Given the description of an element on the screen output the (x, y) to click on. 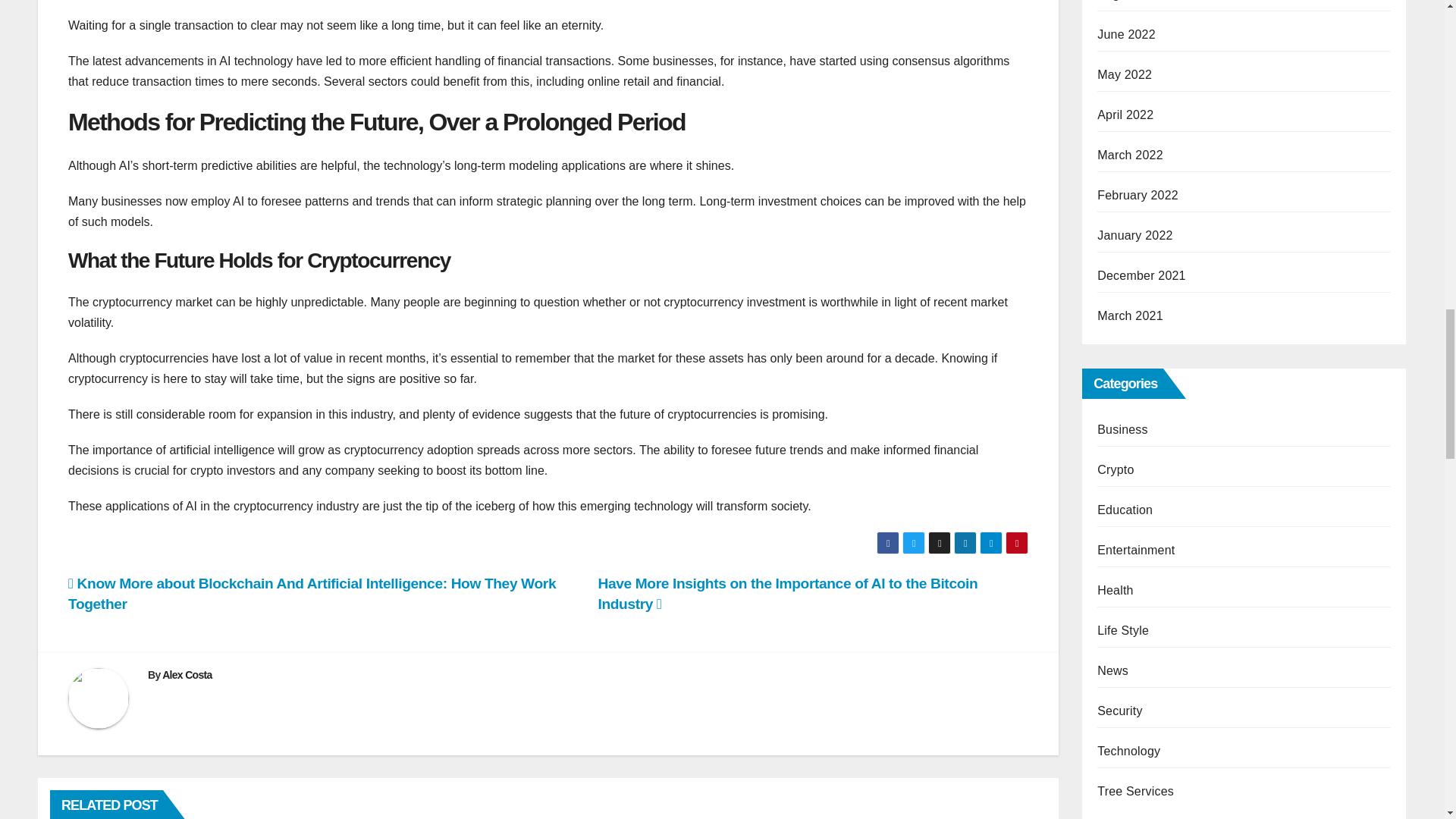
Alex Costa (186, 674)
